Given the description of an element on the screen output the (x, y) to click on. 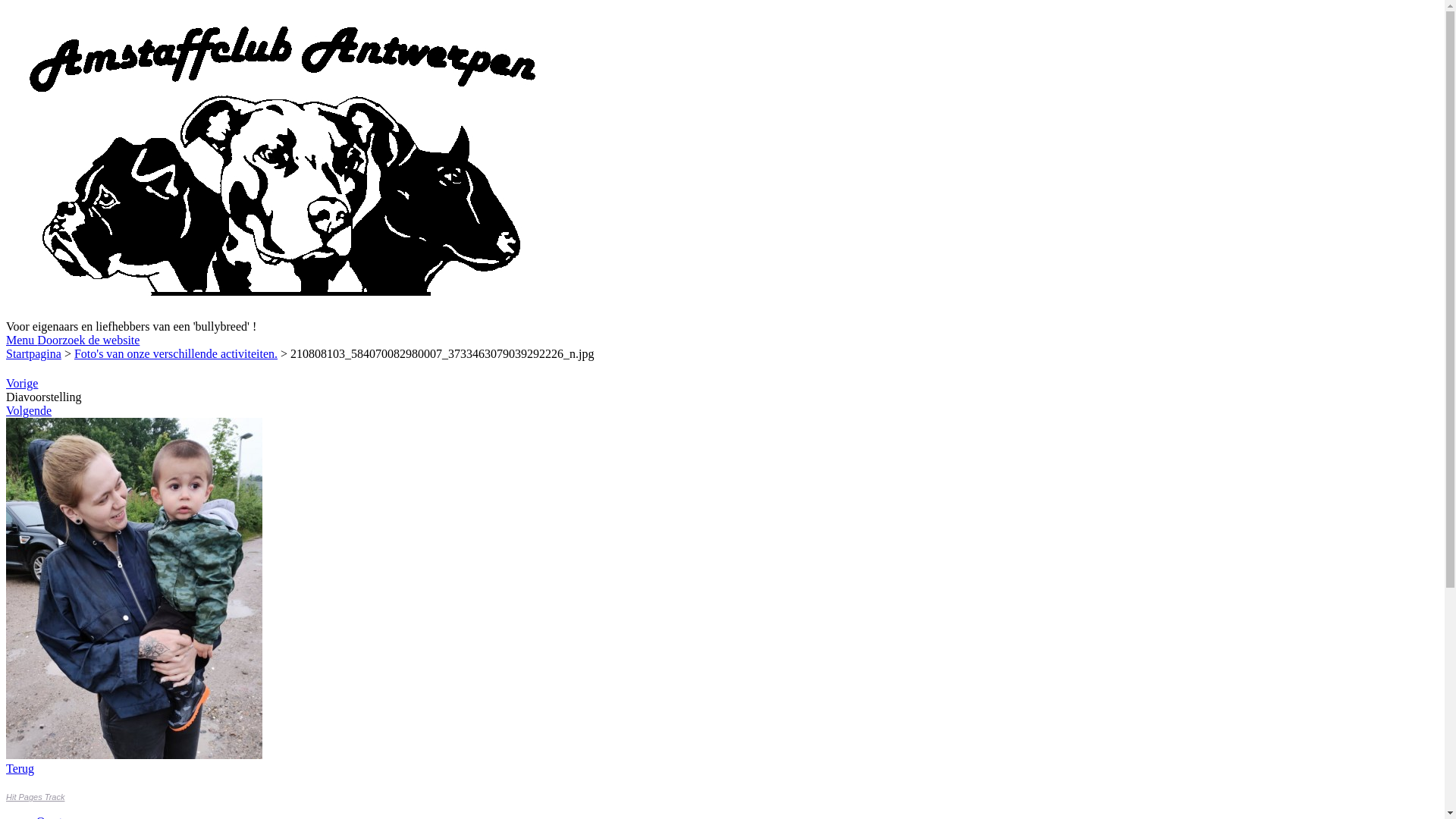
Diavoorstelling Element type: text (43, 396)
Vorige Element type: text (21, 382)
Hit Pages Track Element type: text (35, 796)
Volgende Element type: text (28, 410)
Pagina zal in een nieuw scherm getoond worden. Element type: hover (134, 754)
Foto's van onze verschillende activiteiten. Element type: text (175, 353)
Doorzoek de website Element type: text (88, 339)
Terug Element type: text (20, 768)
Menu Element type: text (21, 339)
Startpagina Element type: text (33, 353)
Ga naar homepagina Element type: hover (282, 312)
